Given the description of an element on the screen output the (x, y) to click on. 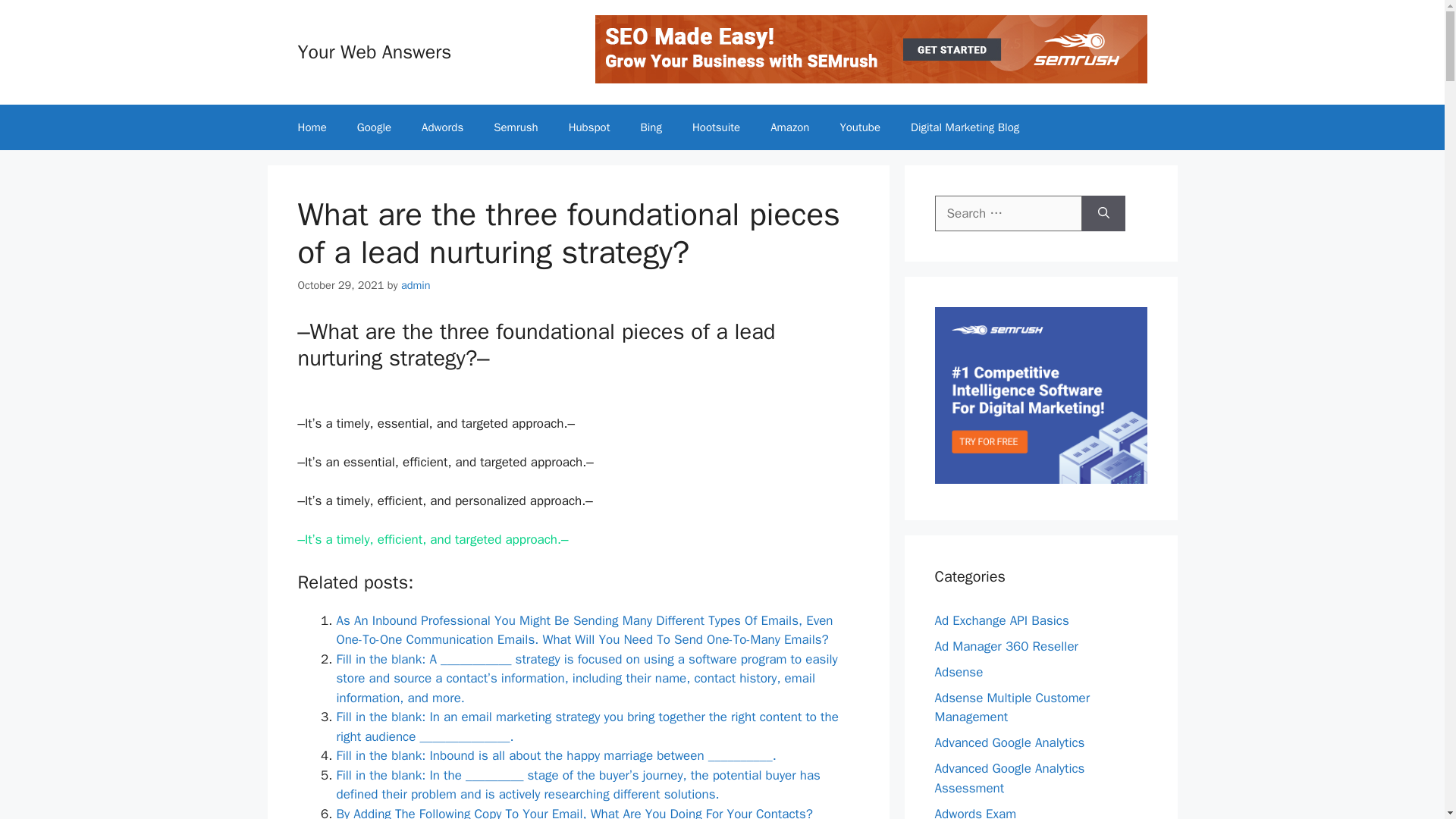
Bing (650, 126)
Home (311, 126)
Digital Marketing Blog (964, 126)
Semrush (516, 126)
Hubspot (589, 126)
admin (415, 284)
Youtube (859, 126)
Adwords (442, 126)
Hootsuite (716, 126)
View all posts by admin (415, 284)
Amazon (789, 126)
Google (374, 126)
Your Web Answers (374, 51)
